Given the description of an element on the screen output the (x, y) to click on. 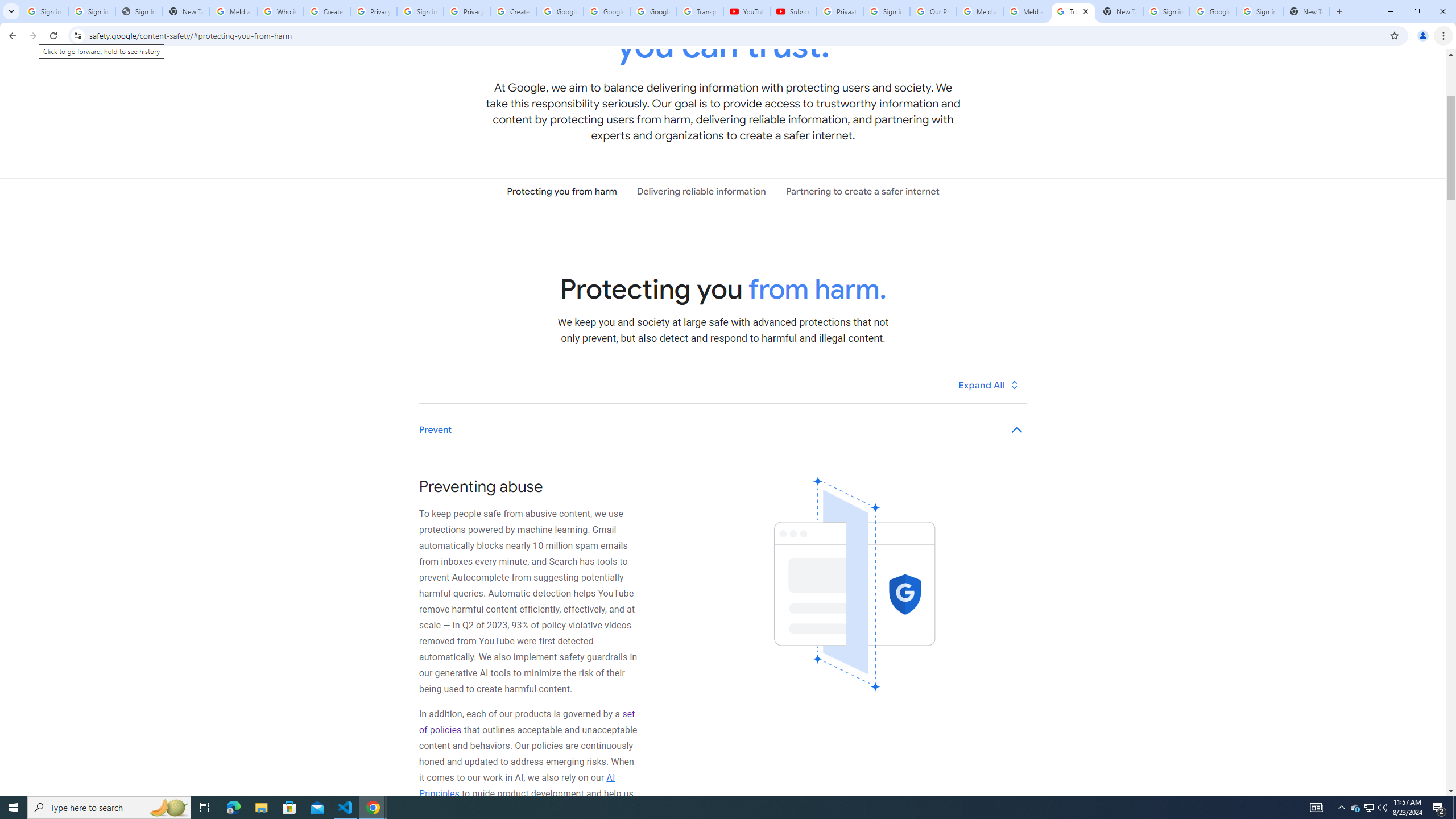
Create your Google Account (512, 11)
Sign in - Google Accounts (1166, 11)
Sign in - Google Accounts (44, 11)
New Tab (1306, 11)
Protecting you from harm (561, 191)
Partnering to create a safer internet (862, 191)
Sign in - Google Accounts (1259, 11)
Who is my administrator? - Google Account Help (279, 11)
Google Cybersecurity Innovations - Google Safety Center (1213, 11)
Create your Google Account (326, 11)
